Given the description of an element on the screen output the (x, y) to click on. 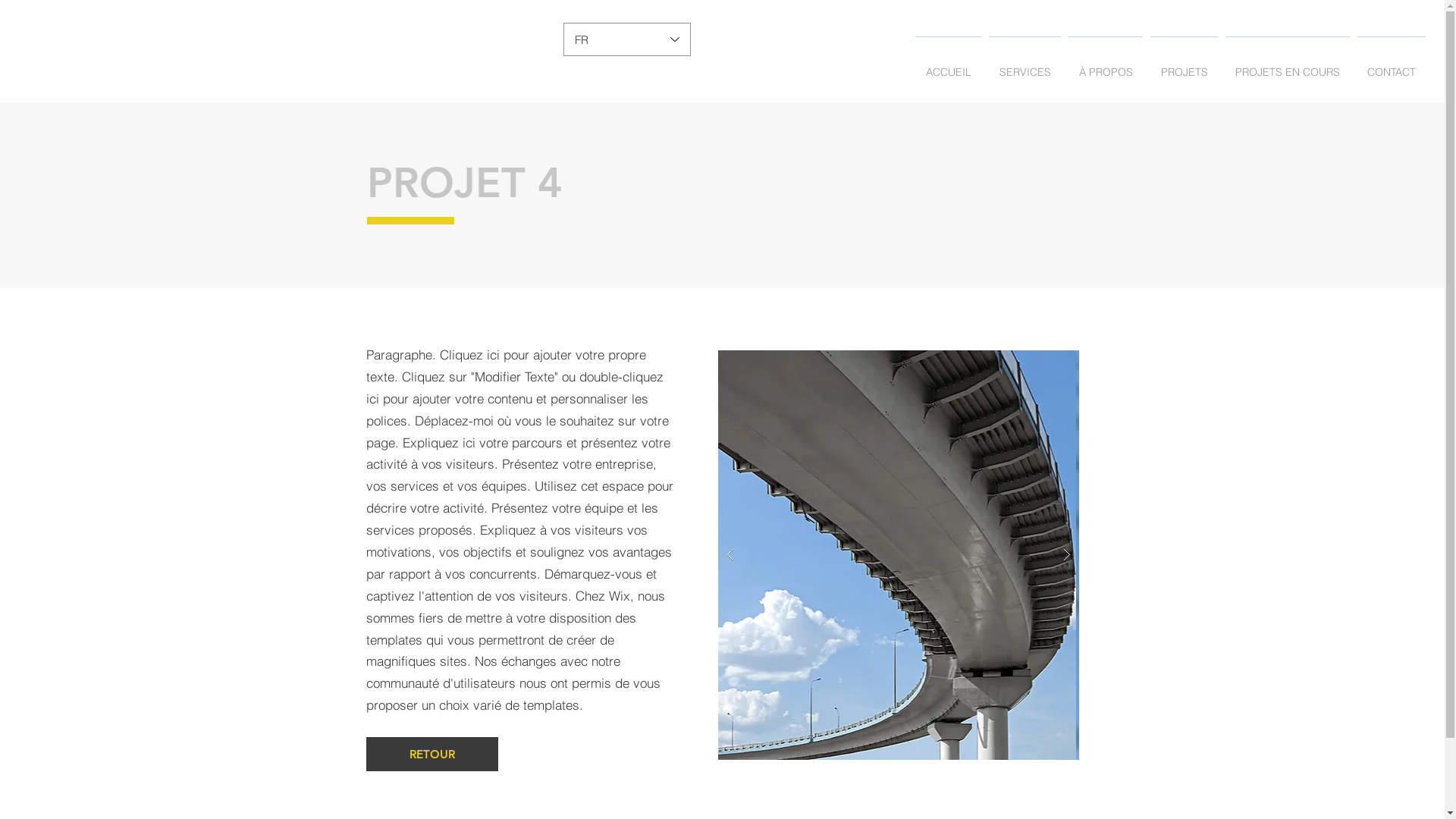
PROJETS Element type: text (1183, 65)
RETOUR Element type: text (431, 754)
SERVICES Element type: text (1024, 65)
ACCUEIL Element type: text (948, 65)
PROJETS EN COURS Element type: text (1287, 65)
CONTACT Element type: text (1391, 65)
